Given the description of an element on the screen output the (x, y) to click on. 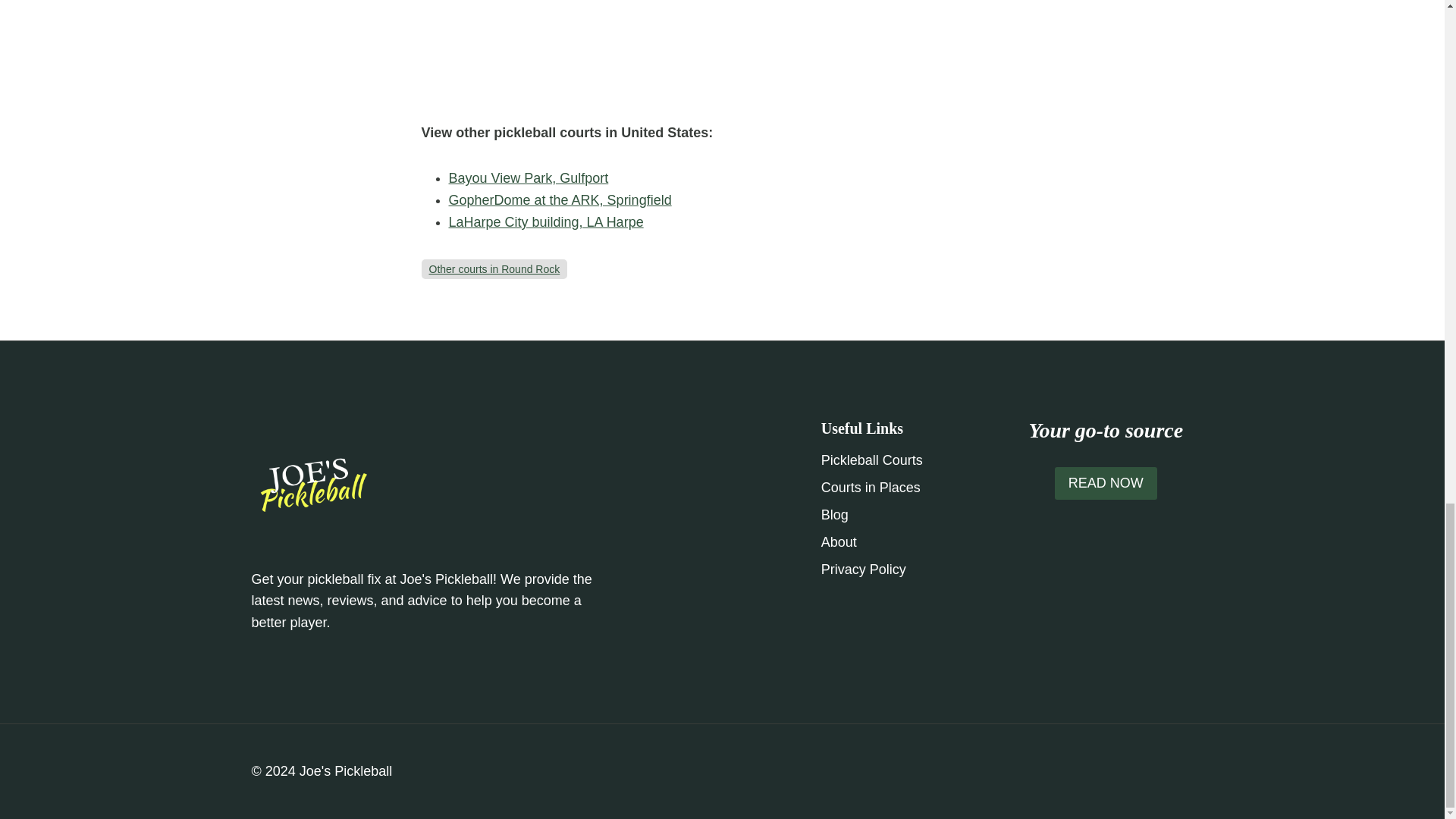
Blog (908, 515)
Bayou View Park, Gulfport (528, 177)
Other courts in Round Rock (494, 268)
LaHarpe City building, LA Harpe (545, 222)
GopherDome at the ARK, Springfield (559, 200)
Pickleball Courts (908, 461)
READ NOW (1105, 482)
Courts in Places (908, 488)
About (908, 542)
Privacy Policy (908, 569)
